Given the description of an element on the screen output the (x, y) to click on. 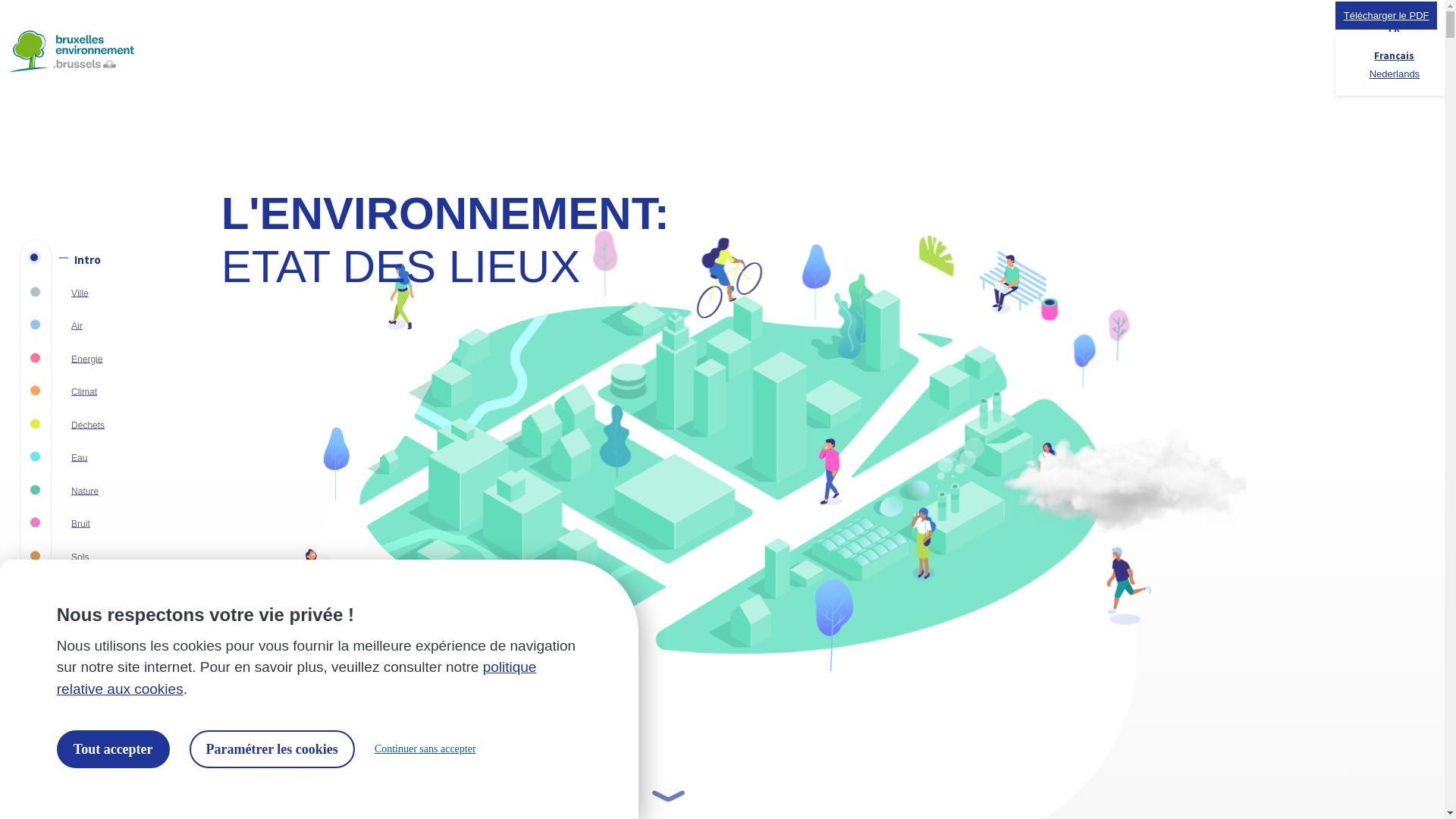
Ville Element type: text (98, 292)
Energie Element type: text (98, 358)
politique relative aux cookies Element type: text (296, 677)
Nature Element type: text (98, 490)
Bruit Element type: text (98, 523)
Section active
Intro Element type: text (98, 259)
Air Element type: text (98, 326)
Climat Element type: text (98, 391)
Eau Element type: text (98, 457)
Tout accepter Element type: text (112, 749)
Continuer sans accepter Element type: text (425, 748)
FR Element type: text (1393, 27)
Sols Element type: text (98, 556)
Nederlands Element type: text (1394, 73)
